Given the description of an element on the screen output the (x, y) to click on. 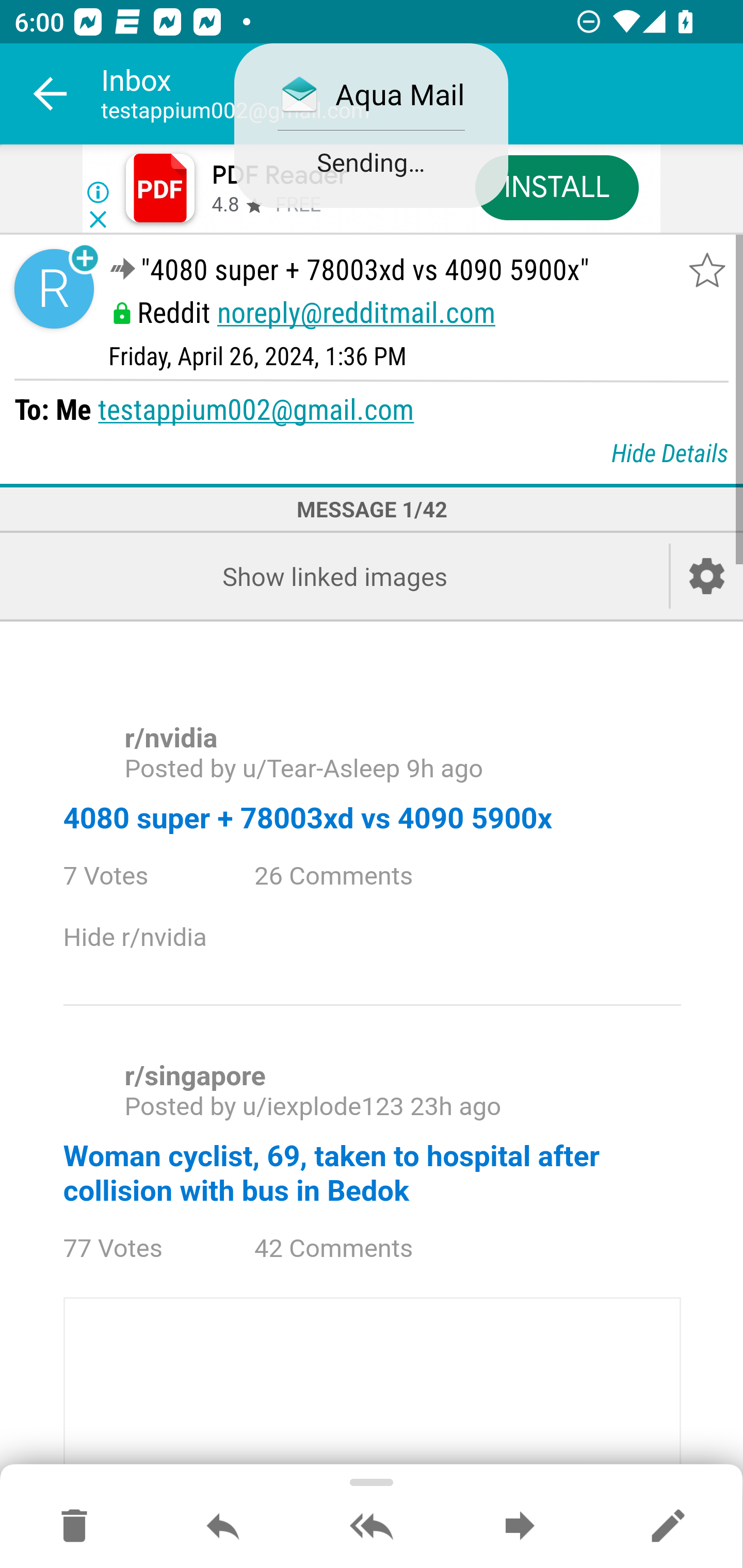
Navigate up (50, 93)
INSTALL (556, 187)
Sender contact button (53, 289)
Show linked images (334, 576)
Account setup (706, 576)
r/nvidia (170, 739)
Posted by u/Tear-Asleep (261, 768)
9h ago (443, 768)
4080 super + 78003xd vs 4090 5900x (306, 818)
7 Votes (123, 875)
26 Comments (348, 875)
Hide r/nvidia (151, 937)
r/singapore (194, 1076)
Posted by u/iexplode123 (263, 1105)
23h ago (454, 1105)
77 Votes (130, 1248)
42 Comments (348, 1248)
Move to Deleted (74, 1527)
Reply (222, 1527)
Reply all (371, 1527)
Forward (519, 1527)
Reply as new (667, 1527)
